Given the description of an element on the screen output the (x, y) to click on. 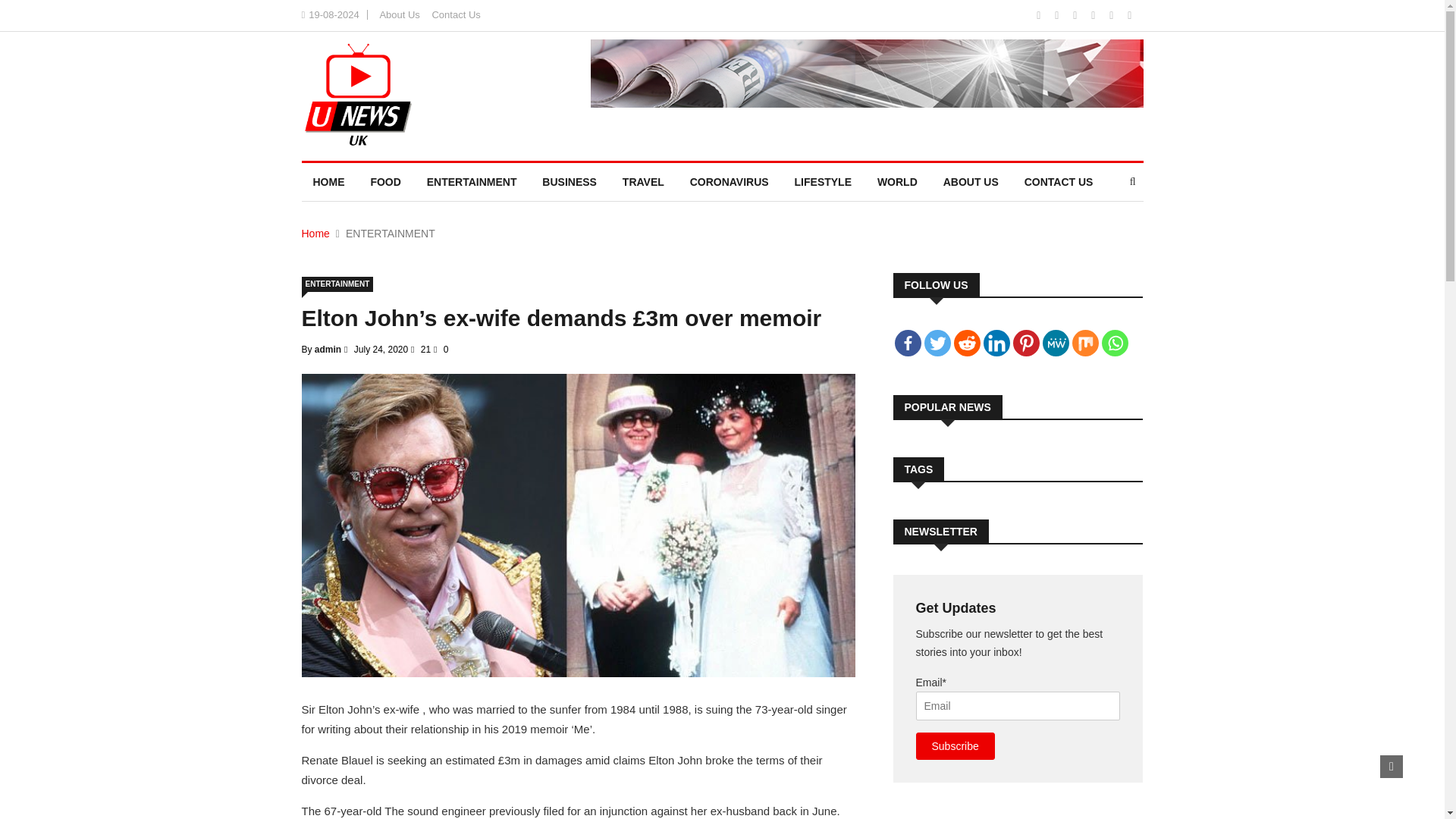
Reddit (966, 343)
WORLD (897, 181)
Home (315, 233)
Subscribe (954, 746)
Pinterest (1026, 343)
CORONAVIRUS (729, 181)
Twitter (936, 343)
BUSINESS (569, 181)
LIFESTYLE (823, 181)
CONTACT US (1059, 181)
